Given the description of an element on the screen output the (x, y) to click on. 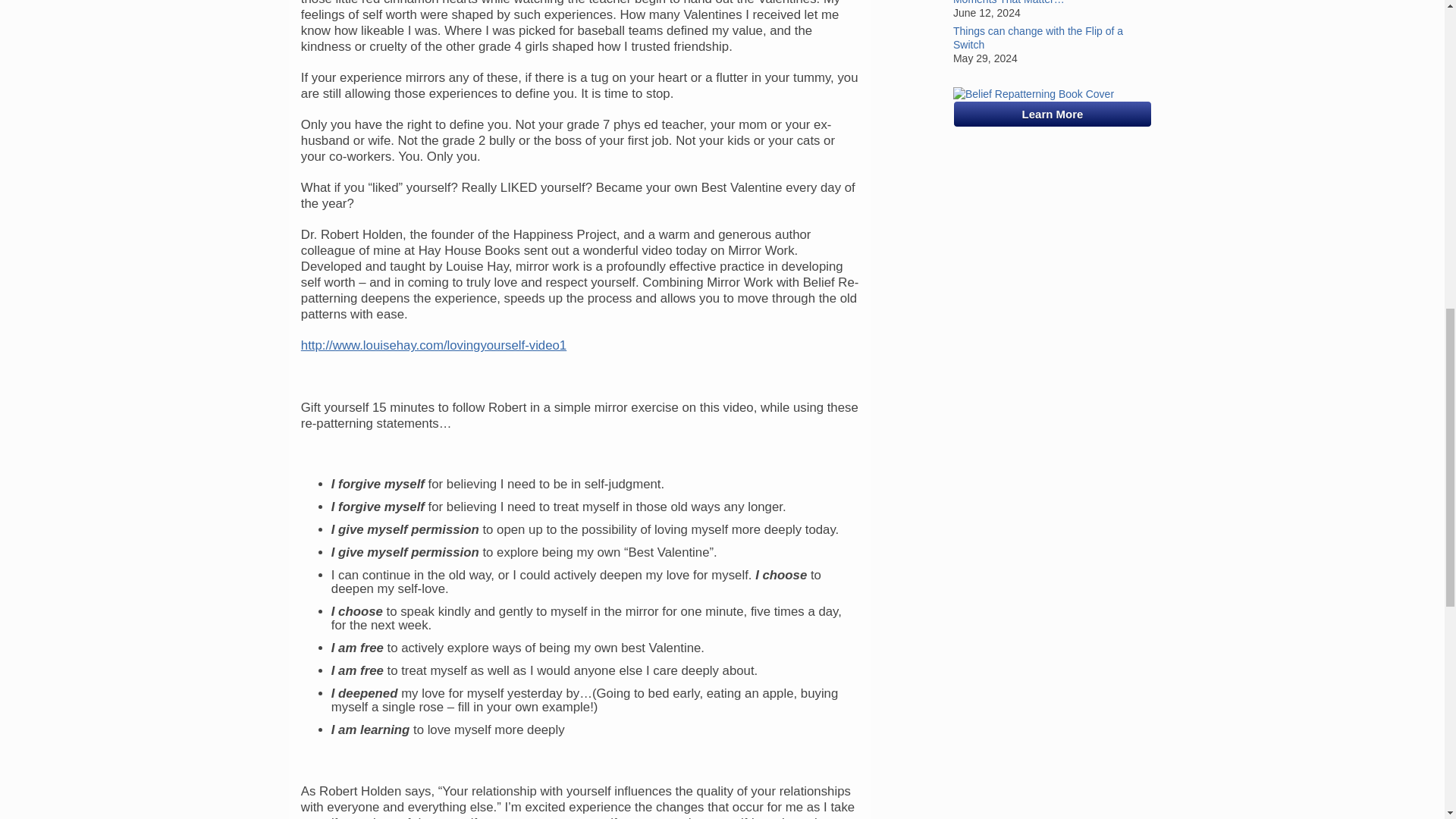
Things can change with the Flip of a Switch (1052, 37)
